Given the description of an element on the screen output the (x, y) to click on. 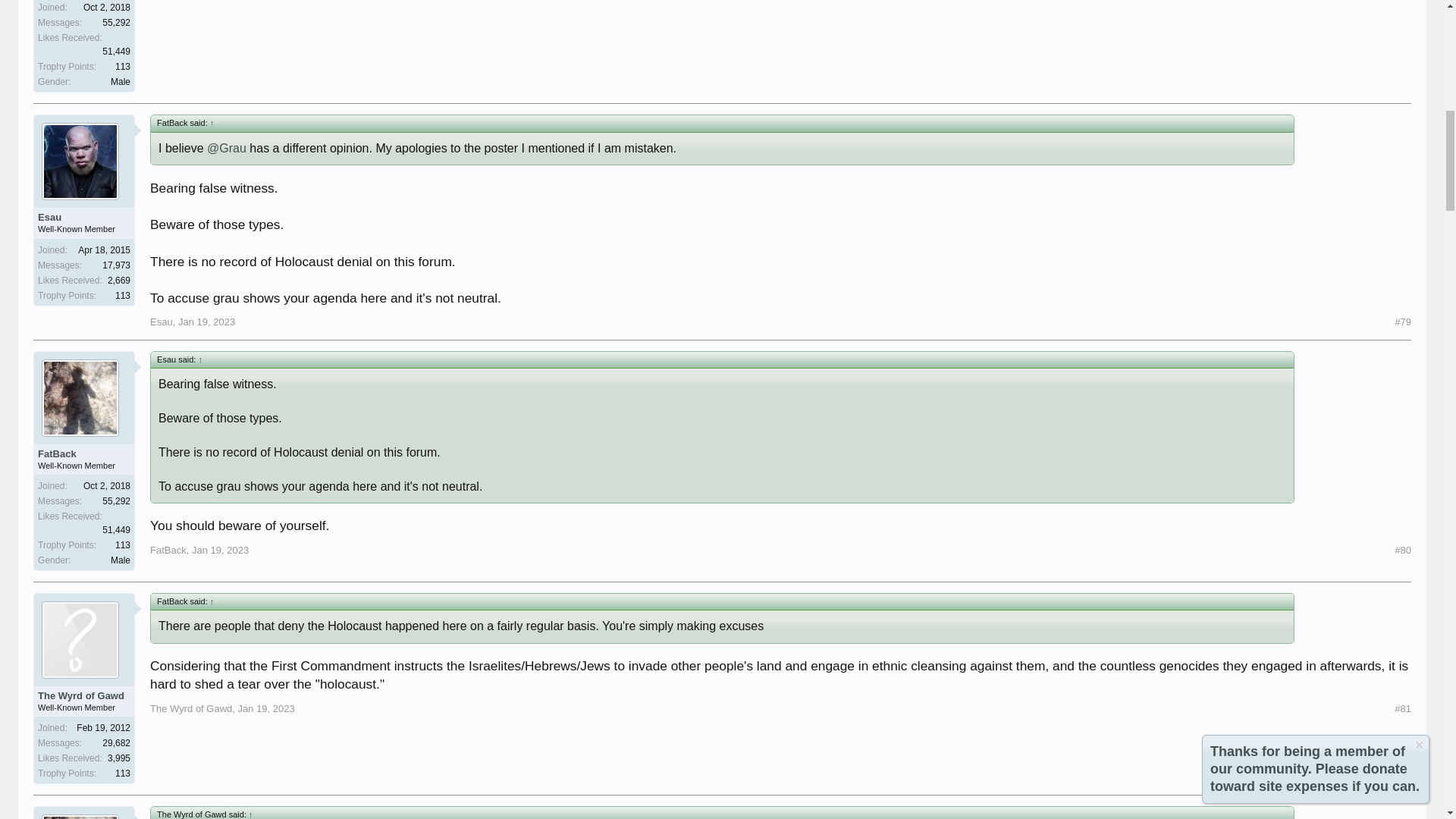
Permalink (1402, 322)
Permalink (220, 550)
Permalink (1402, 550)
113 (123, 66)
55,292 (116, 22)
Permalink (205, 321)
